Given the description of an element on the screen output the (x, y) to click on. 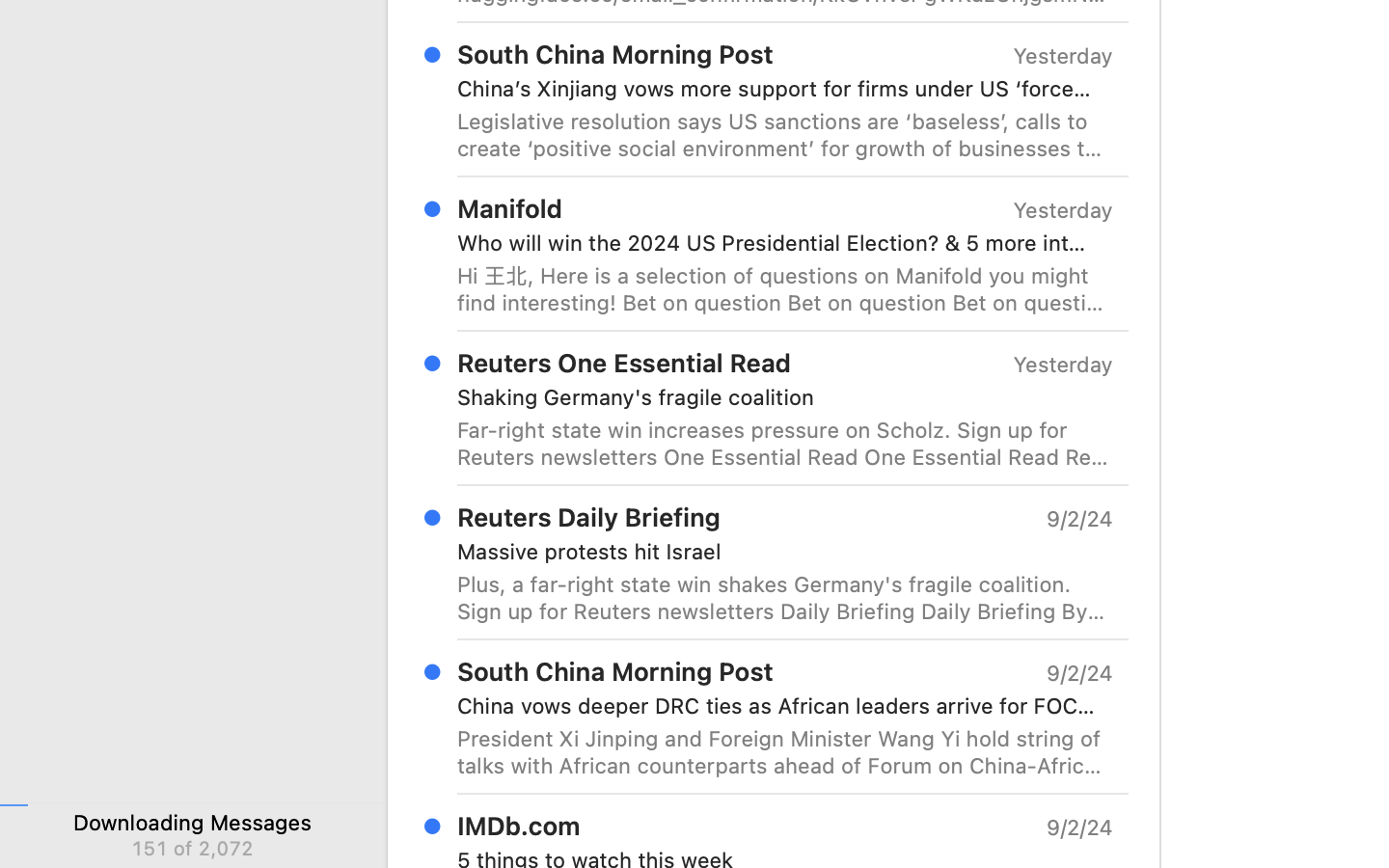
Reuters One Essential Read Element type: AXStaticText (623, 362)
Hi 王北, Here is a selection of questions on Manifold you might find interesting! Bet on question Bet on question Bet on question Bet on question Bet on question Bet on question 🔎 Explore Manifold This e-mail has been sent to 王北, click here to unsubscribe from this type of notification. Element type: AXStaticText (784, 289)
Far-right state win increases pressure on Scholz. Sign up for Reuters newsletters One Essential Read One Essential Read Recommended by Edson Caldas, Newsletter Editor Pressure mounts on Scholz Right-wing Alternative for Germany top candidate Bjoern Hoecke on the day of the Thuringia state election. REUTERS/Wolfgang Rattay The Alternative for Germany is on track to become the first far-right party to win a regional election in Germany since World War Two, dealing a blow to parties in Chancellor Olaf Scholz's government. The results are likely to aggravate instability in an already fractious ruling coalition, Chief Correspondent Sarah Marsh reports. The German government's faltering authority could also complicate European policy when the bloc's other major power France is still struggling to form a government. Read the full article Sponsors are not involved in the creation of newsletters or other Reuters news content. Advertise in this newsletter or on Reuters.com Reuters One Essential R Element type: AXStaticText (784, 443)
9/2/24 Element type: AXStaticText (1078, 826)
Yesterday Element type: AXStaticText (1062, 364)
